Given the description of an element on the screen output the (x, y) to click on. 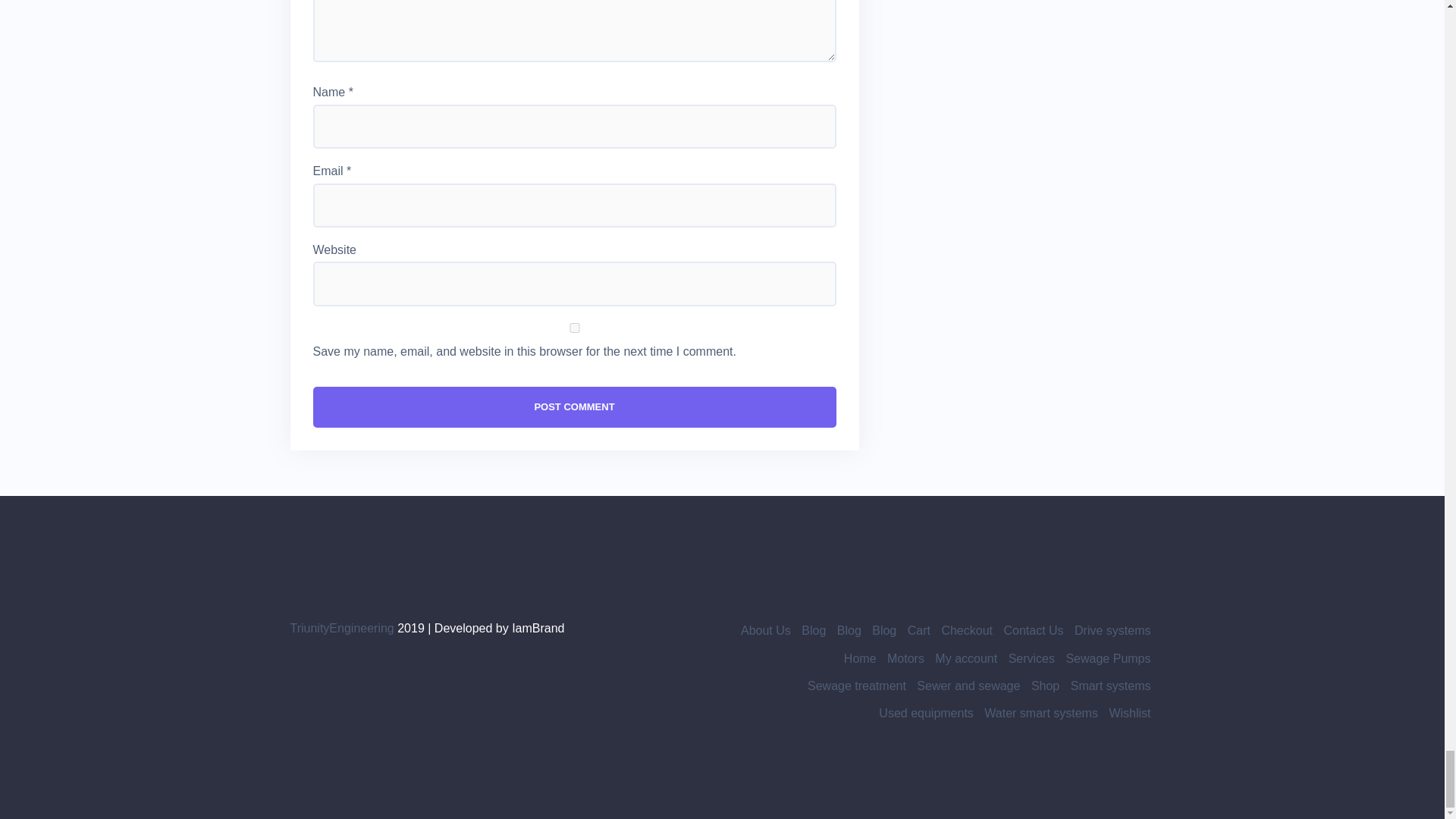
Used equipments (926, 712)
About Us (765, 630)
Drive systems (1112, 630)
Sewage treatment (856, 685)
Contact Us (1032, 630)
Shop (1044, 685)
Smart systems (1110, 685)
yes (574, 327)
Post Comment (574, 407)
Sewer and sewage (968, 685)
